Given the description of an element on the screen output the (x, y) to click on. 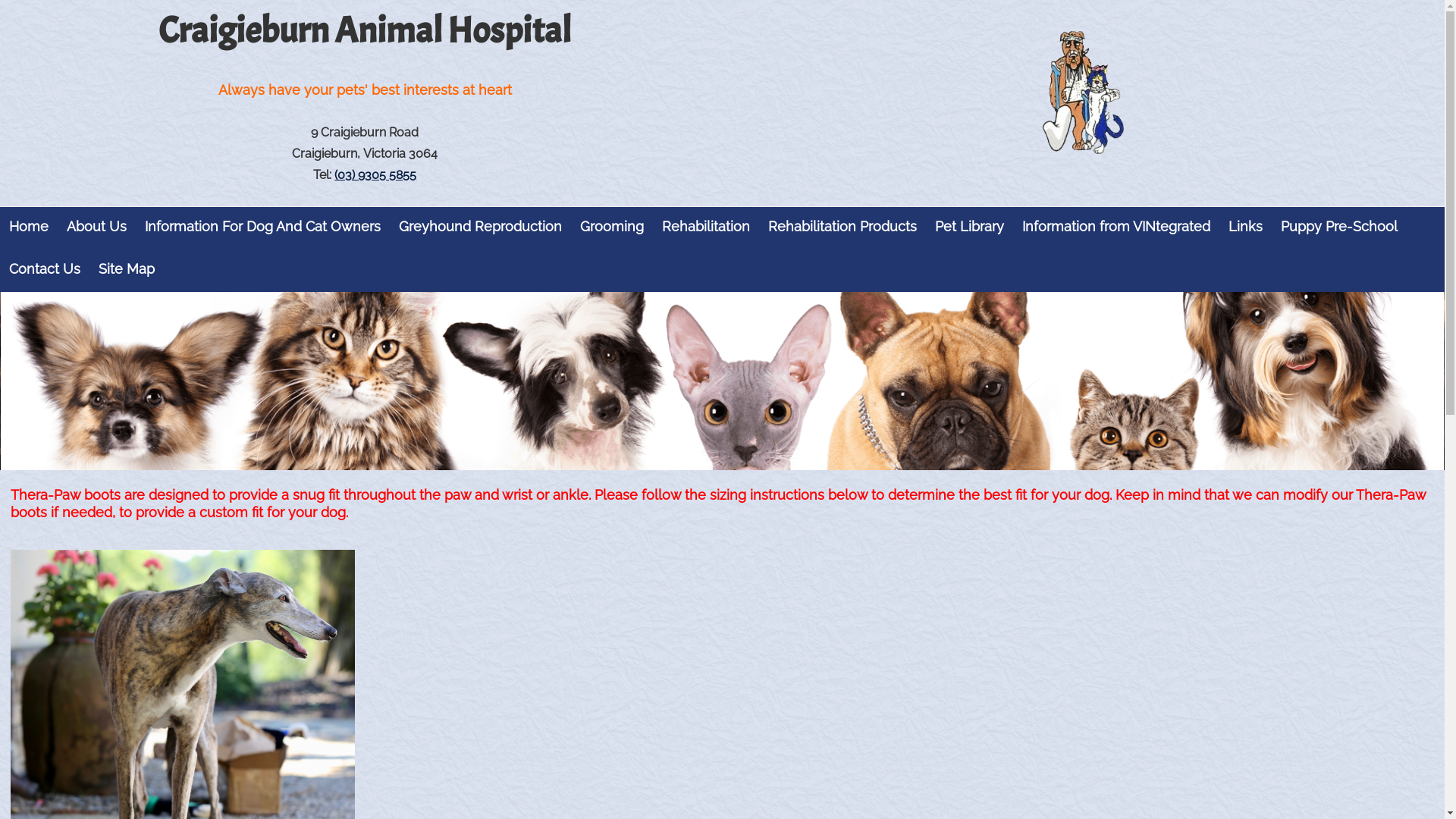
Pet Library Element type: text (969, 226)
Puppy Pre-School Element type: text (1338, 226)
Information For Dog And Cat Owners Element type: text (262, 226)
Rehabilitation Products Element type: text (842, 226)
Links Element type: text (1245, 226)
Rehabilitation Element type: text (705, 226)
Greyhound Reproduction Element type: text (480, 226)
Information from VINtegrated Element type: text (1116, 226)
Home Element type: text (28, 226)
Contact Us Element type: text (44, 269)
Site Map Element type: text (126, 269)
(03) 9305 5855 Element type: text (375, 174)
About Us Element type: text (96, 226)
Grooming Element type: text (611, 226)
